Given the description of an element on the screen output the (x, y) to click on. 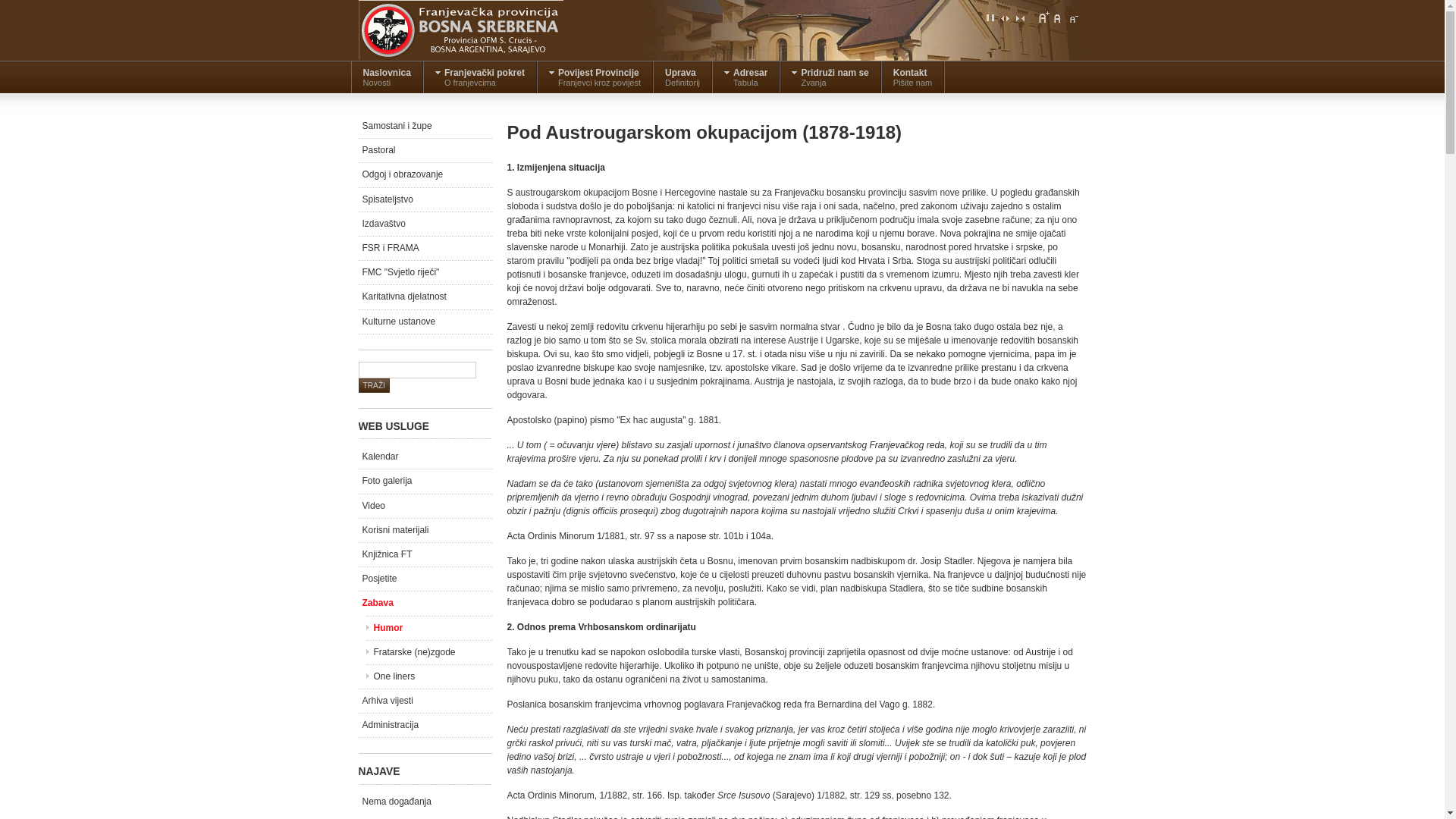
Humor Element type: text (428, 628)
Povijest Provincije
Franjevci kroz povijest Element type: text (594, 77)
Arhiva vijesti Element type: text (424, 700)
Foto galerija Element type: text (424, 480)
Odgoj i obrazovanje Element type: text (424, 174)
Posjetite Element type: text (424, 578)
Kalendar Element type: text (424, 456)
Uprava
Definitorij Element type: text (682, 77)
Smanji slova Element type: hover (1072, 17)
Zabava Element type: text (424, 603)
Adresar
Tabula Element type: text (745, 77)
Fratarske (ne)zgode Element type: text (428, 652)
Spisateljstvo Element type: text (424, 199)
Video Element type: text (424, 505)
Puni ekran (Fullscreen) Element type: hover (990, 17)
Naslovnica
Novosti Element type: text (386, 77)
Administracija Element type: text (424, 725)
Pastoral Element type: text (424, 150)
Karitativna djelatnost Element type: text (424, 296)
Uski ekran (Narrow screen) Element type: hover (1019, 17)
Korisni materijali Element type: text (424, 530)
One liners Element type: text (428, 676)
Kulturne ustanove Element type: text (424, 320)
FSR i FRAMA Element type: text (424, 248)
